Given the description of an element on the screen output the (x, y) to click on. 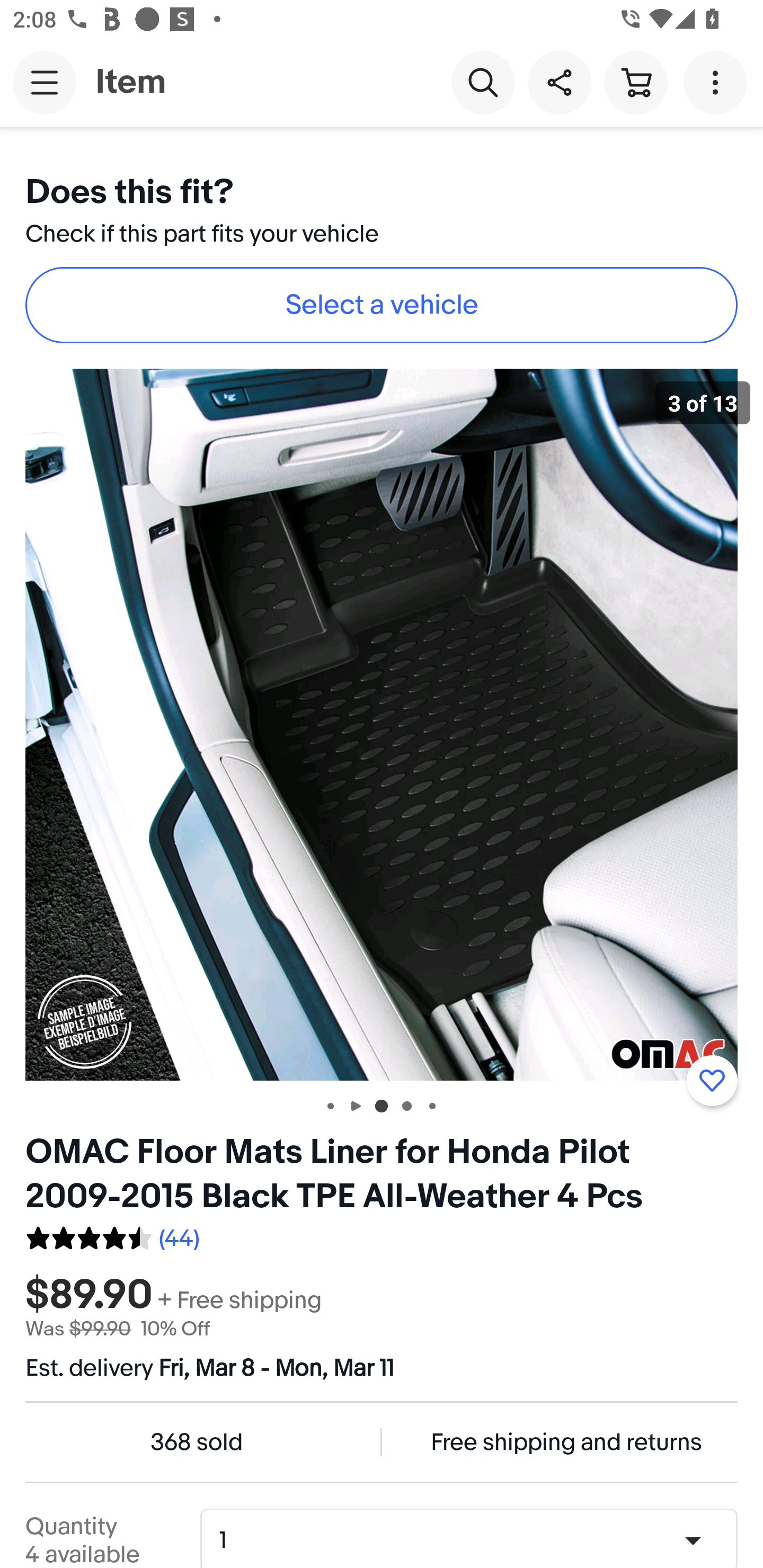
Main navigation, open (44, 82)
Search (482, 81)
Share this item (559, 81)
Cart button shopping cart (635, 81)
More options (718, 81)
Select a vehicle (381, 304)
Item image 3 of 13 (381, 724)
Add to watchlist (711, 1080)
Quantity,1,4 available 1 (474, 1540)
